Given the description of an element on the screen output the (x, y) to click on. 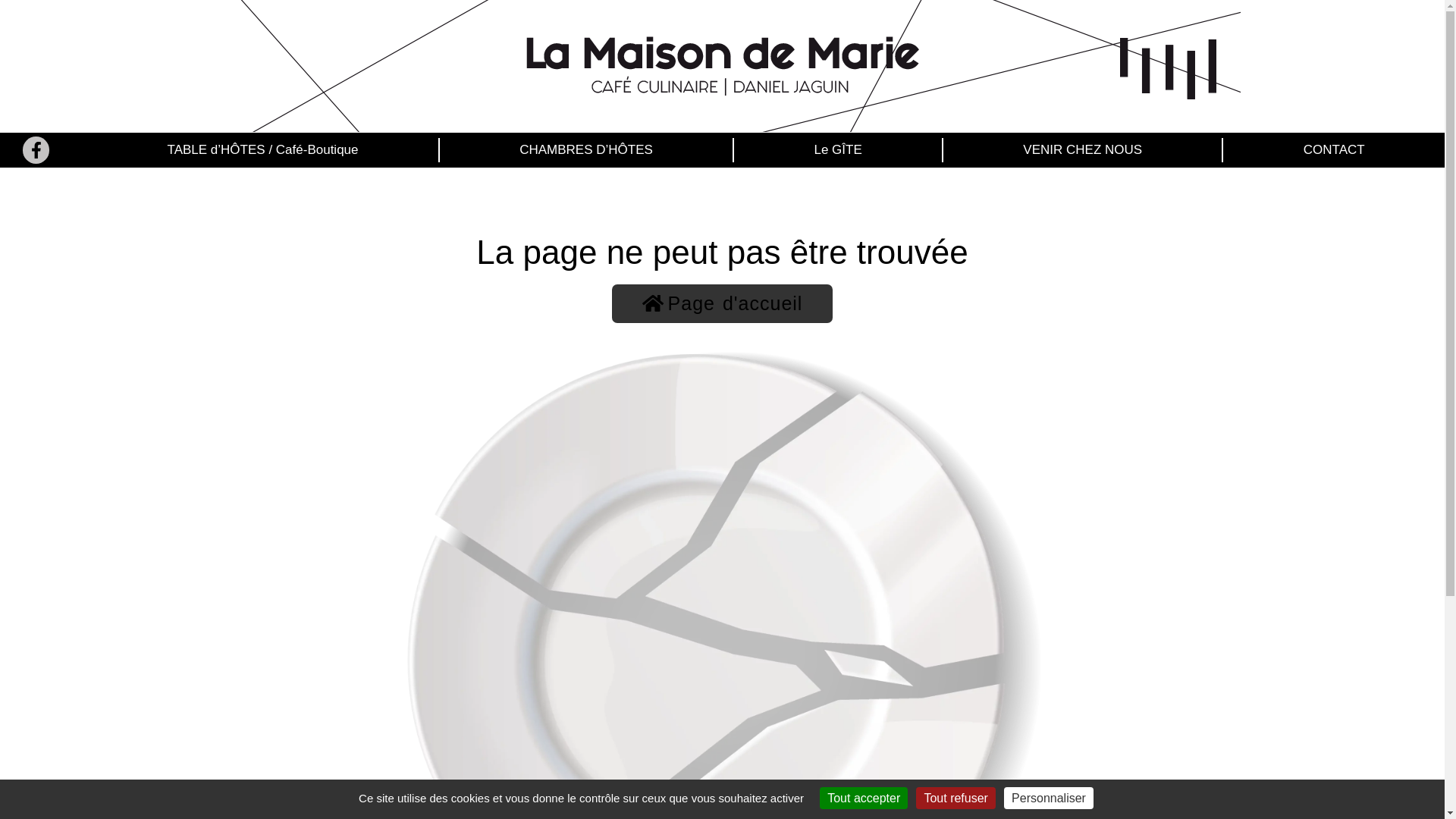
Personnaliser Element type: text (1048, 798)
VENIR CHEZ NOUS Element type: text (1082, 149)
Tout refuser Element type: text (955, 798)
Tout accepter Element type: text (863, 798)
Page d'accueil Element type: text (722, 303)
CONTACT Element type: text (1333, 149)
